Given the description of an element on the screen output the (x, y) to click on. 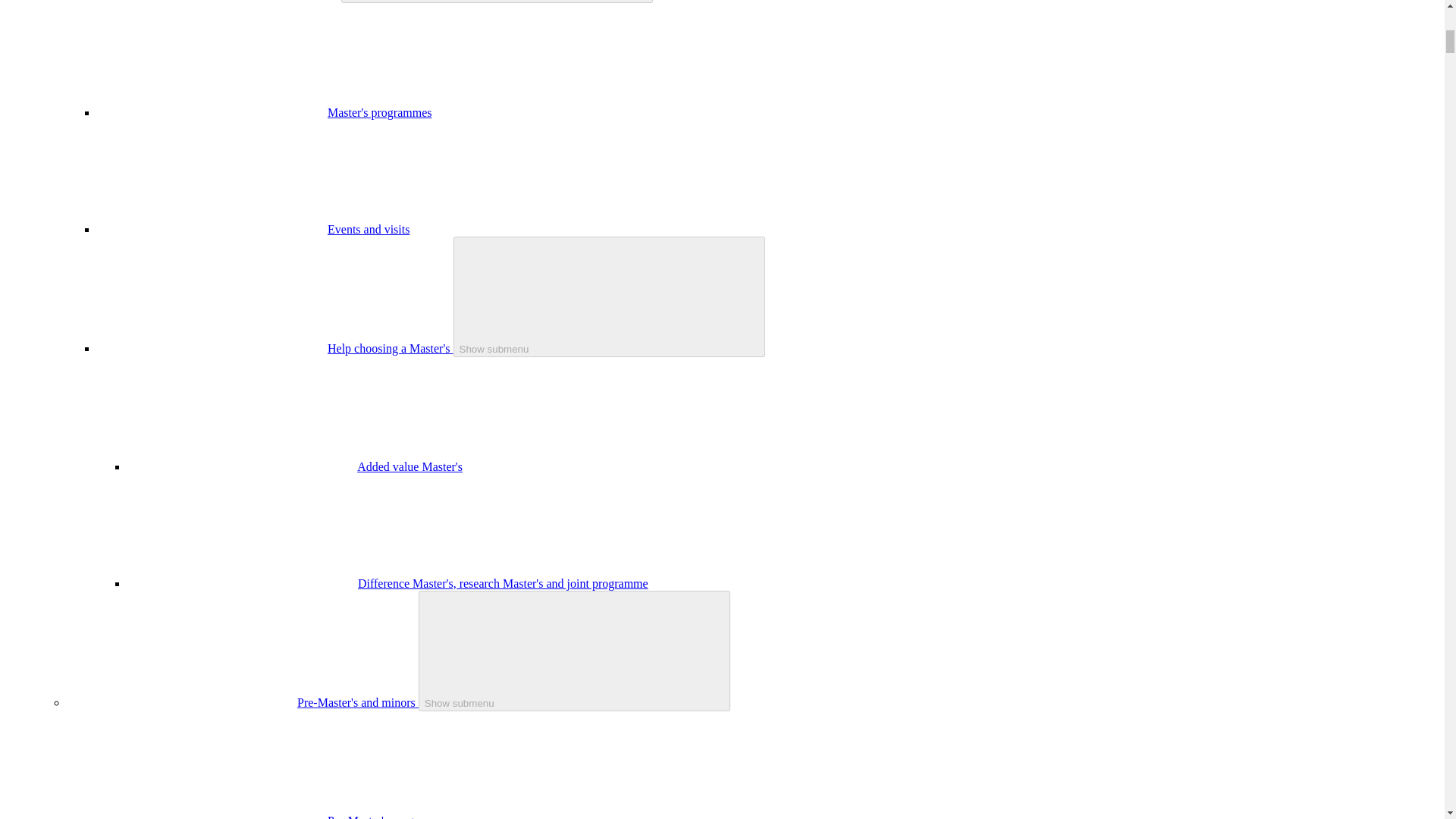
Pre-Master's and minors (358, 702)
Show submenu (574, 650)
Pre-Master's programmes (389, 816)
Master's programmes (379, 112)
Show submenu (608, 296)
Help choosing a Master's (389, 348)
Events and visits (368, 228)
Master's (318, 0)
Added value Master's (409, 466)
Difference Master's, research Master's and joint programme (502, 583)
